Given the description of an element on the screen output the (x, y) to click on. 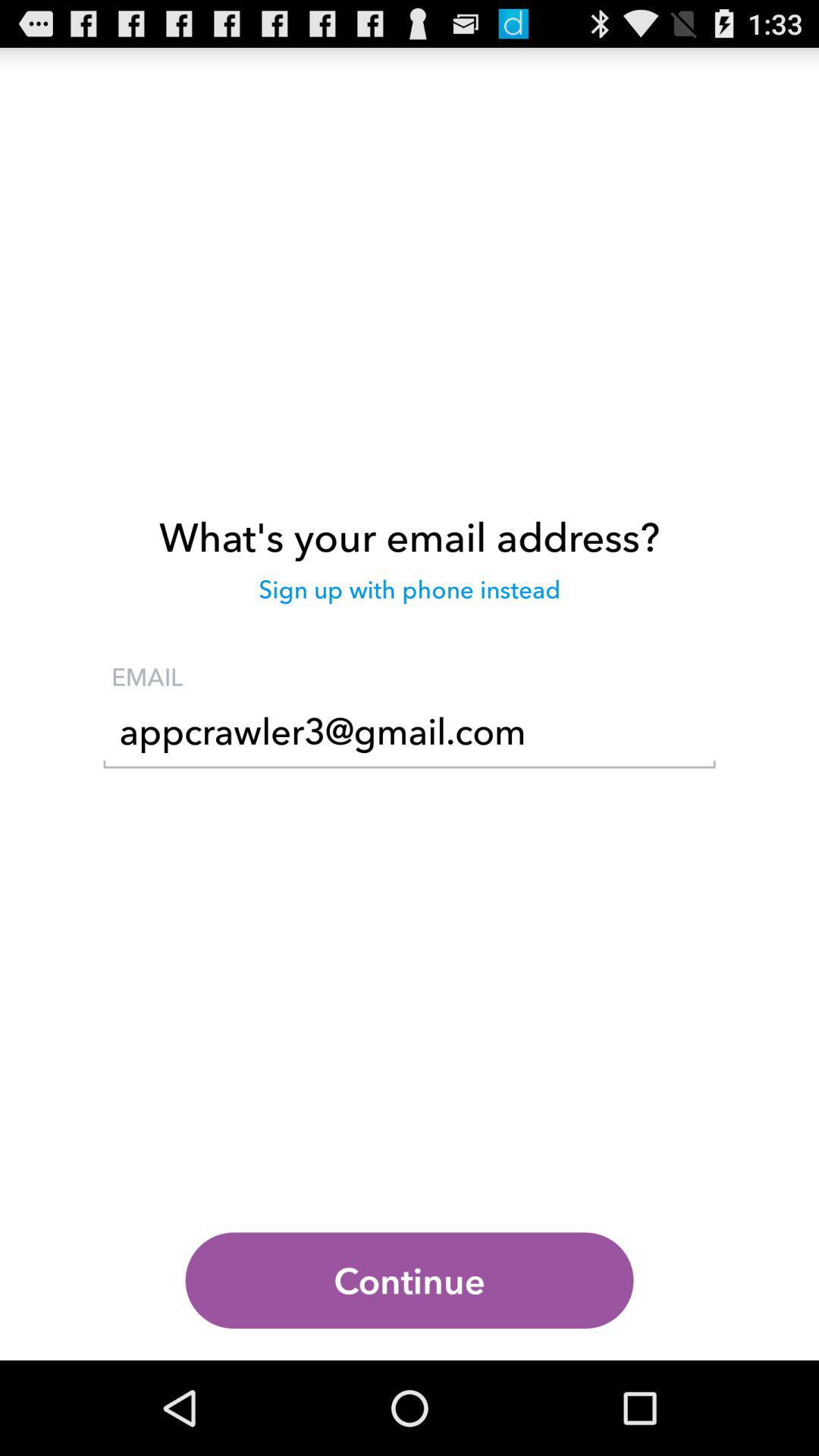
press the icon below the what s your item (409, 597)
